Given the description of an element on the screen output the (x, y) to click on. 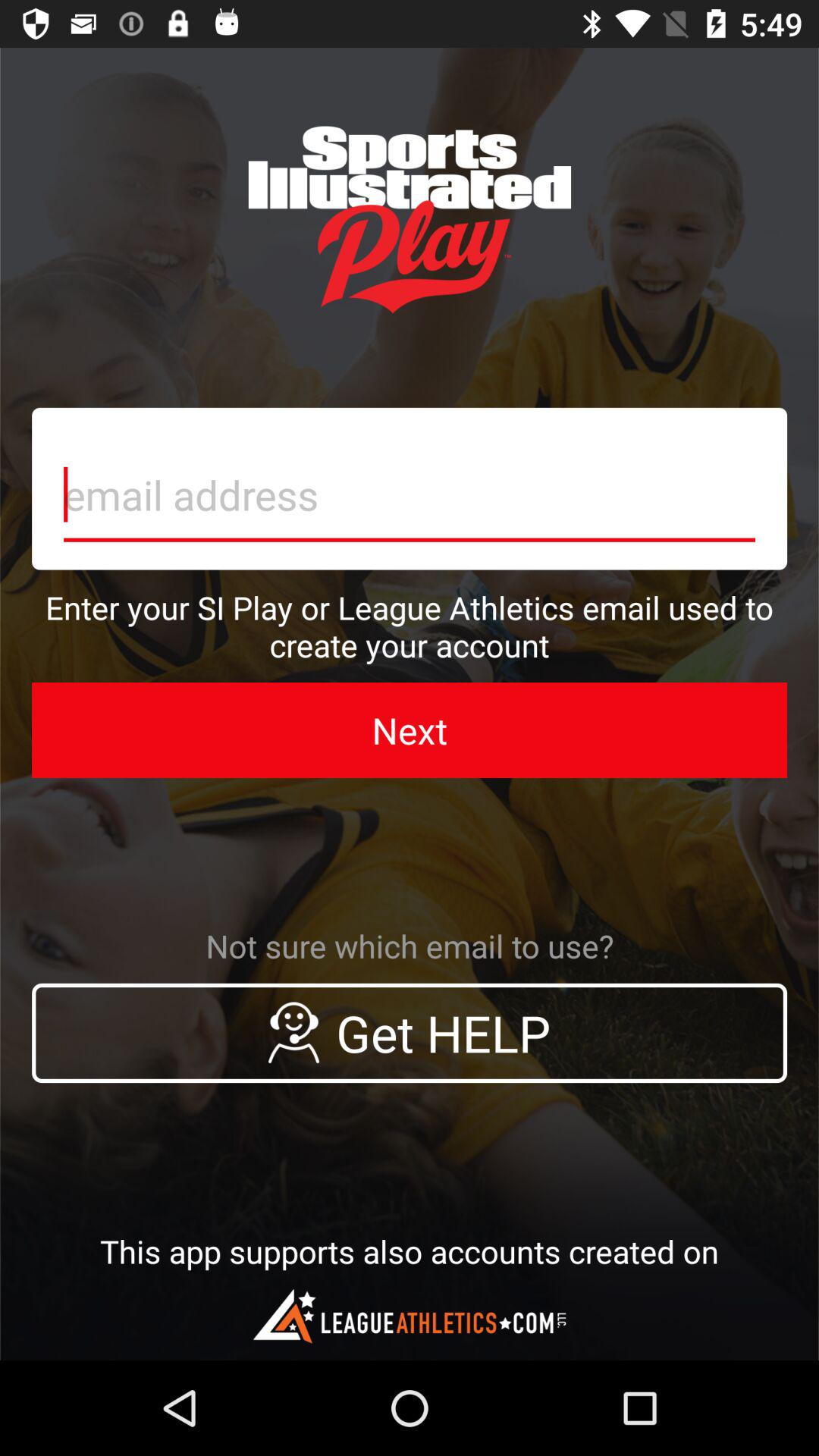
tap the next icon (409, 730)
